Given the description of an element on the screen output the (x, y) to click on. 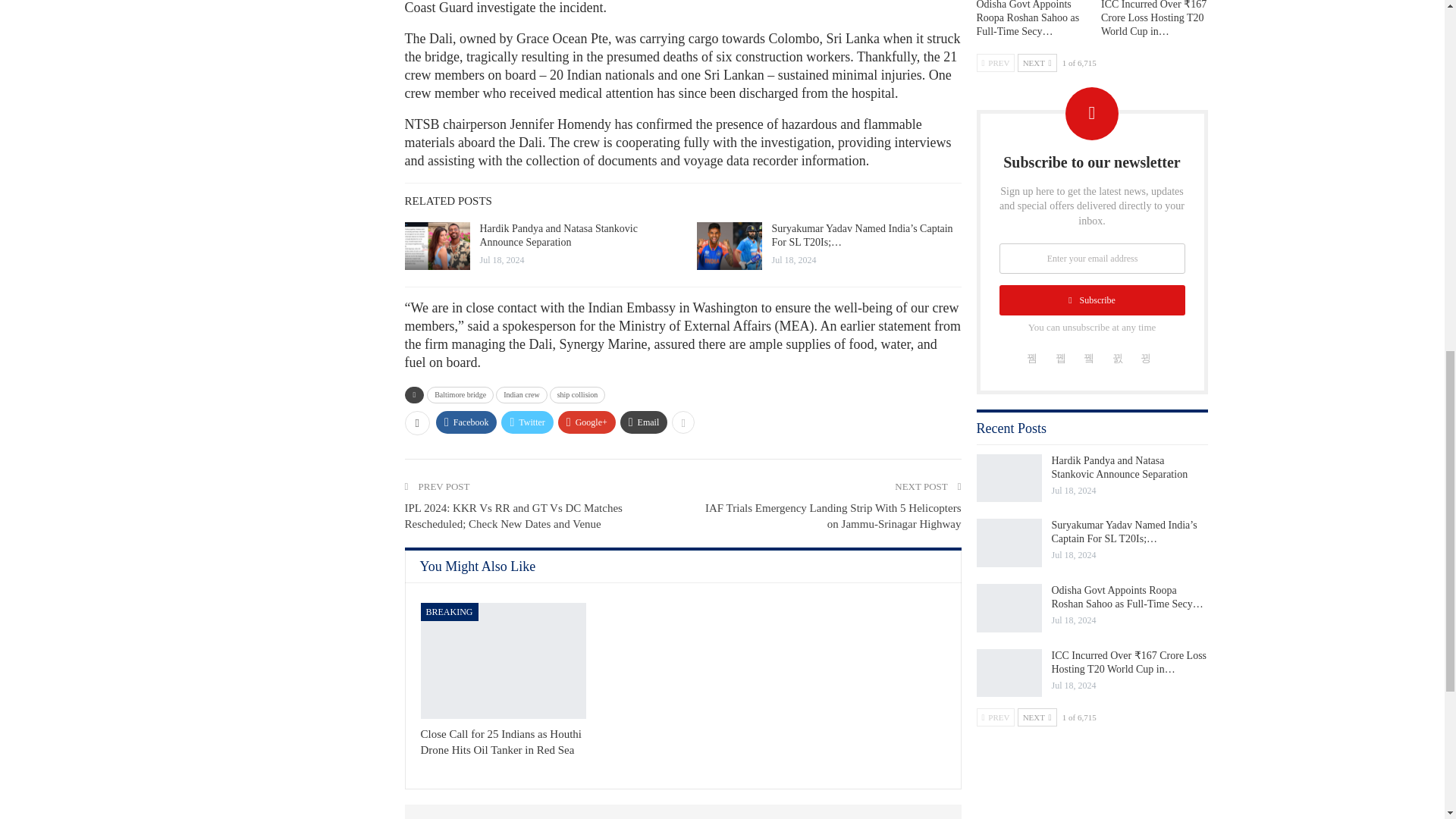
Hardik Pandya and Natasa Stankovic Announce Separation (437, 246)
Previous (995, 63)
